Given the description of an element on the screen output the (x, y) to click on. 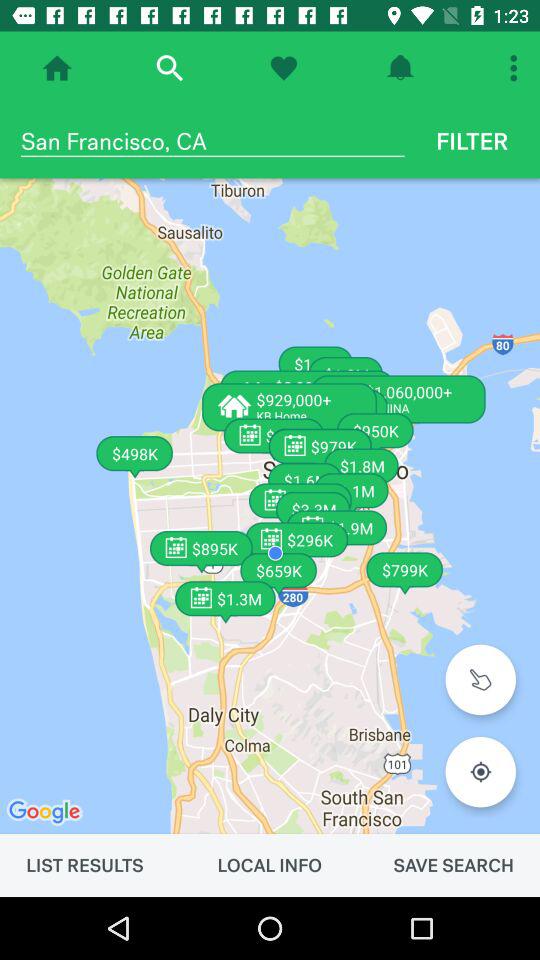
turn on the item next to the local info icon (84, 865)
